Given the description of an element on the screen output the (x, y) to click on. 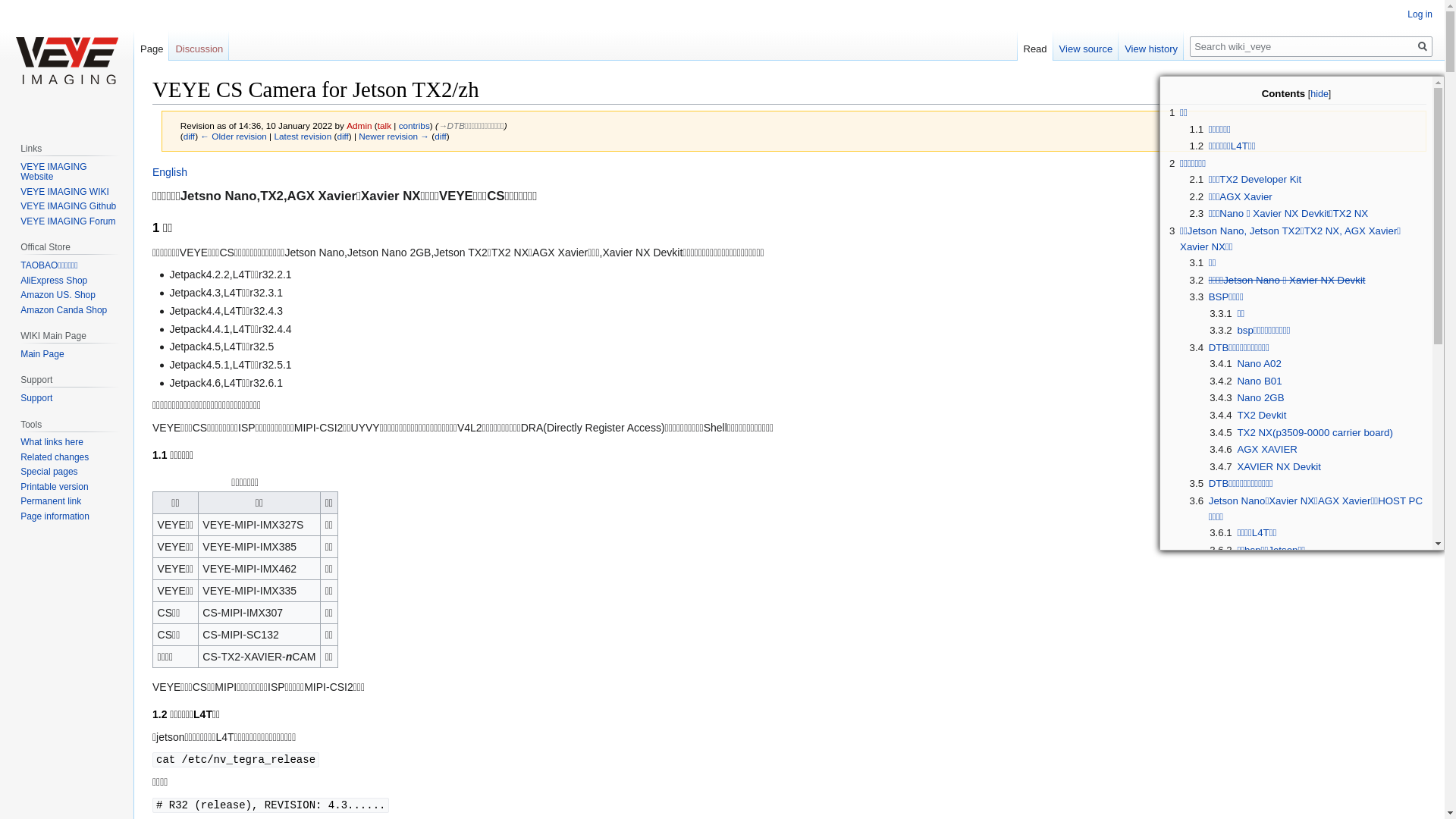
VEYE IMAGING Website Element type: text (53, 171)
Printable version Element type: text (53, 486)
3.4.1 Nano A02 Element type: text (1245, 363)
3.4.2 Nano B01 Element type: text (1245, 380)
Visit the main page Element type: hover (66, 60)
VEYE IMAGING Forum Element type: text (67, 221)
What links here Element type: text (51, 441)
Related changes Element type: text (54, 456)
Latest revision Element type: text (302, 136)
Search the pages for this text Element type: hover (1422, 46)
Jump to navigation Element type: text (151, 163)
3.4.3 Nano 2GB Element type: text (1246, 397)
Permanent link Element type: text (50, 500)
Support Element type: text (36, 397)
Page Element type: text (151, 45)
Read Element type: text (1035, 45)
3.4.6 AGX XAVIER Element type: text (1253, 449)
Admin Element type: text (358, 125)
diff Element type: text (342, 136)
AliExpress Shop Element type: text (53, 280)
VEYE IMAGING Github Element type: text (68, 205)
3.4.4 TX2 Devkit Element type: text (1247, 414)
diff Element type: text (439, 136)
Search wiki_veye [alt-shift-f] Element type: hover (1310, 46)
4.2.1 Gstreamer Usage Element type: text (1262, 785)
Amazon US. Shop Element type: text (57, 294)
Search Element type: text (1422, 46)
English Element type: text (169, 172)
3.4.5 TX2 NX(p3509-0000 carrier board) Element type: text (1301, 432)
Main Page Element type: text (41, 353)
Amazon Canda Shop Element type: text (63, 309)
VEYE IMAGING WIKI Element type: text (64, 191)
Page information Element type: text (54, 516)
3.4.7 XAVIER NX Devkit Element type: text (1265, 466)
contribs Element type: text (413, 125)
Discussion Element type: text (199, 45)
diff Element type: text (188, 136)
Special pages Element type: text (48, 471)
Log in Element type: text (1419, 14)
View history Element type: text (1150, 45)
talk Element type: text (384, 125)
View source Element type: text (1086, 45)
